Given the description of an element on the screen output the (x, y) to click on. 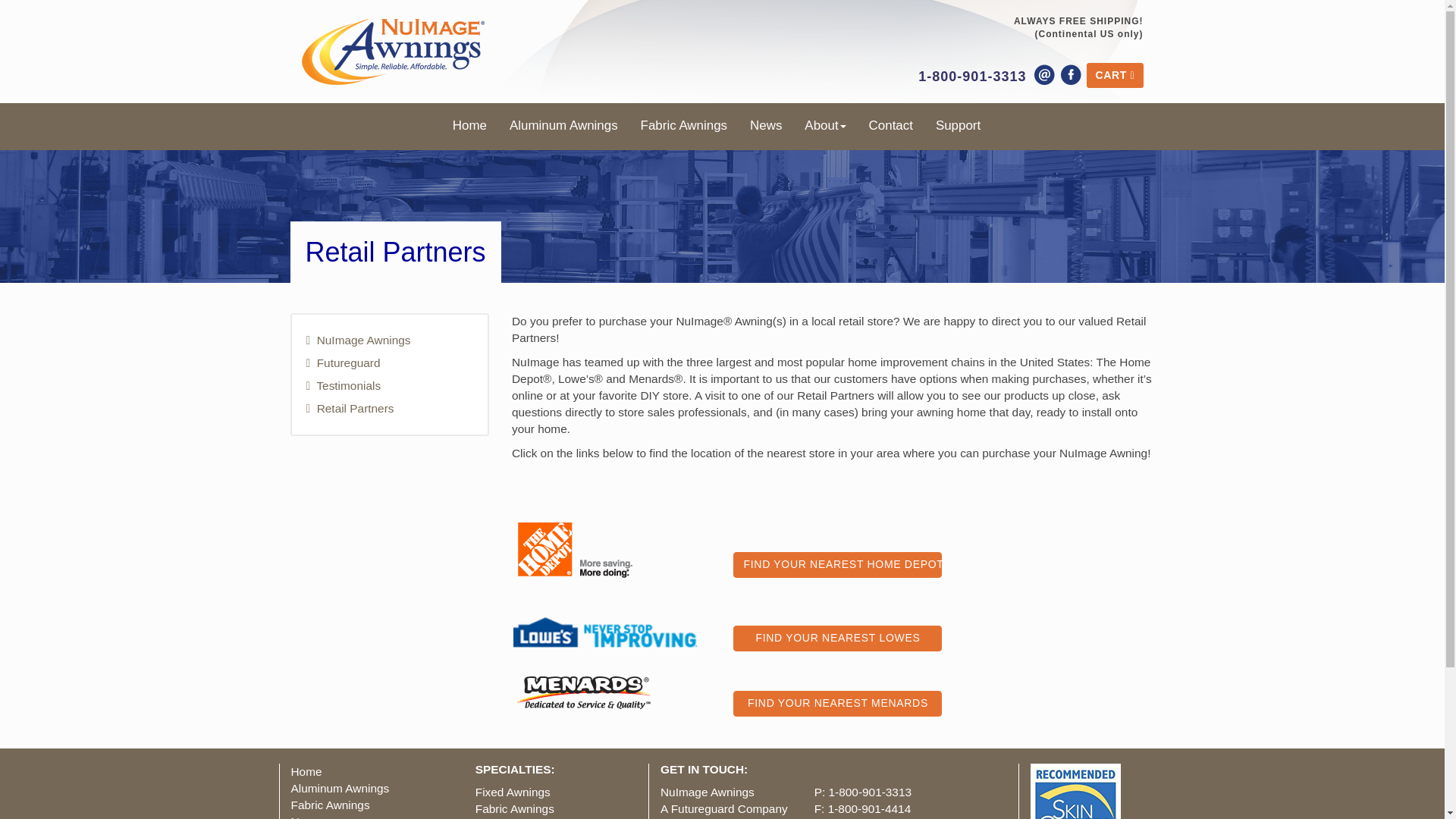
Fabric Awnings (683, 125)
Facebook (1071, 74)
Contact (890, 125)
News (765, 125)
Email Customer Service (1045, 74)
News (305, 816)
  Retail Partners (389, 408)
Support (957, 125)
Home (474, 125)
  NuImage Awnings (389, 340)
